Given the description of an element on the screen output the (x, y) to click on. 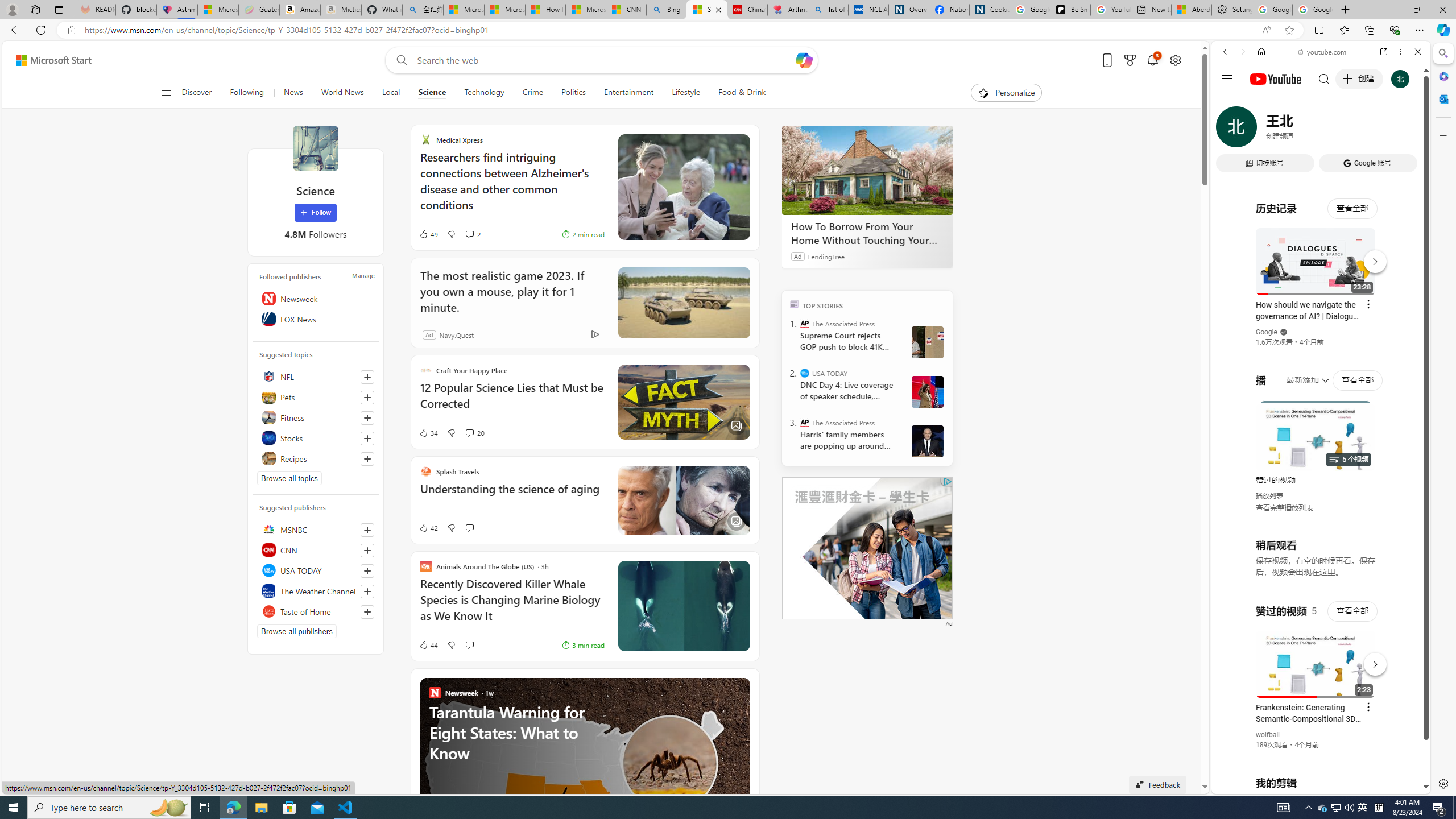
Browser essentials (1394, 29)
Address and search bar (669, 29)
View comments 20 Comment (474, 432)
Feedback (1157, 784)
Home (1261, 51)
Taste of Home (315, 610)
Science (432, 92)
Entertainment (628, 92)
Ad Choice (595, 334)
IMAGES (1262, 130)
